Given the description of an element on the screen output the (x, y) to click on. 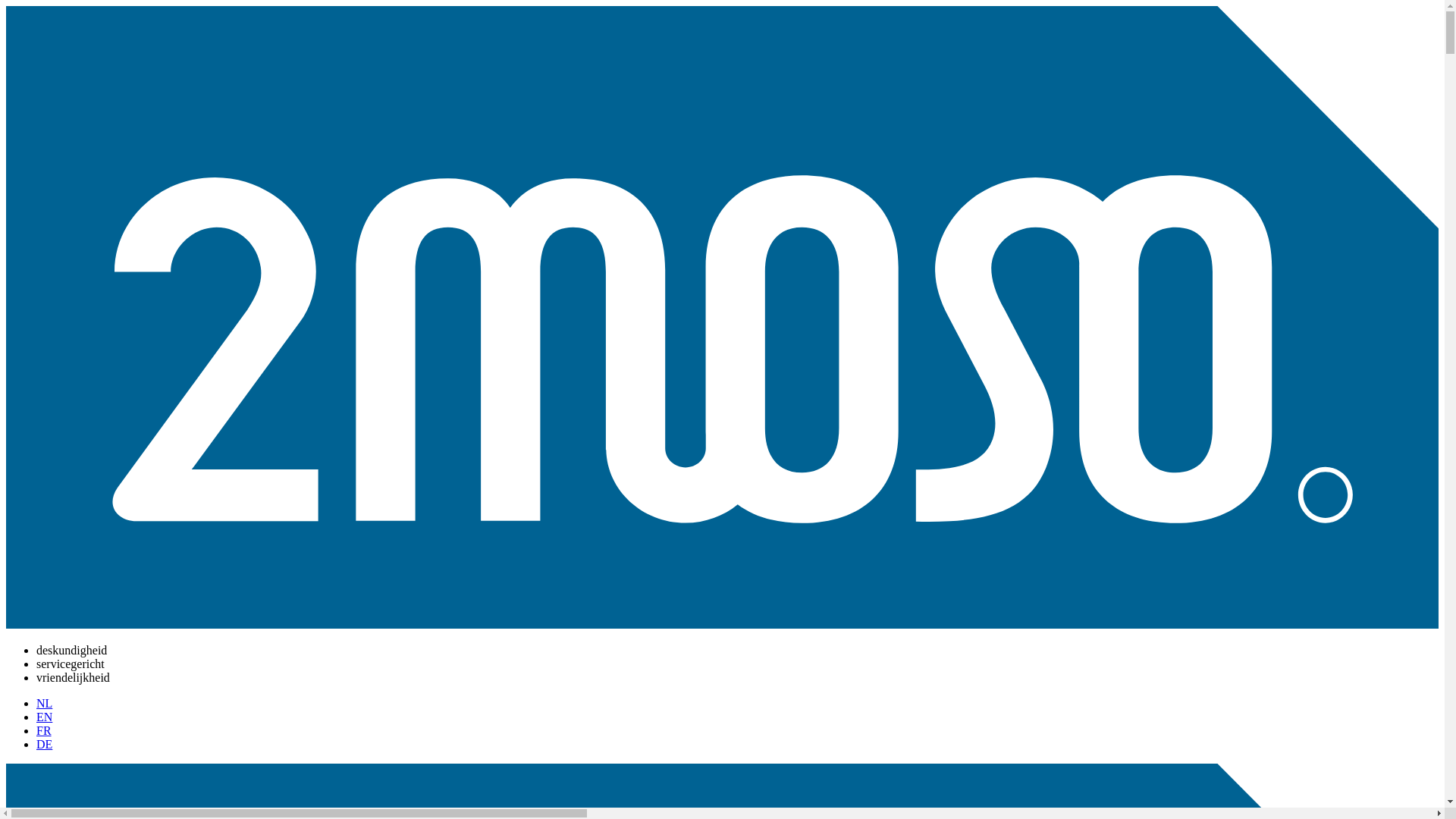
EN Element type: text (44, 716)
NL Element type: text (44, 702)
FR Element type: text (43, 730)
DE Element type: text (44, 743)
